Given the description of an element on the screen output the (x, y) to click on. 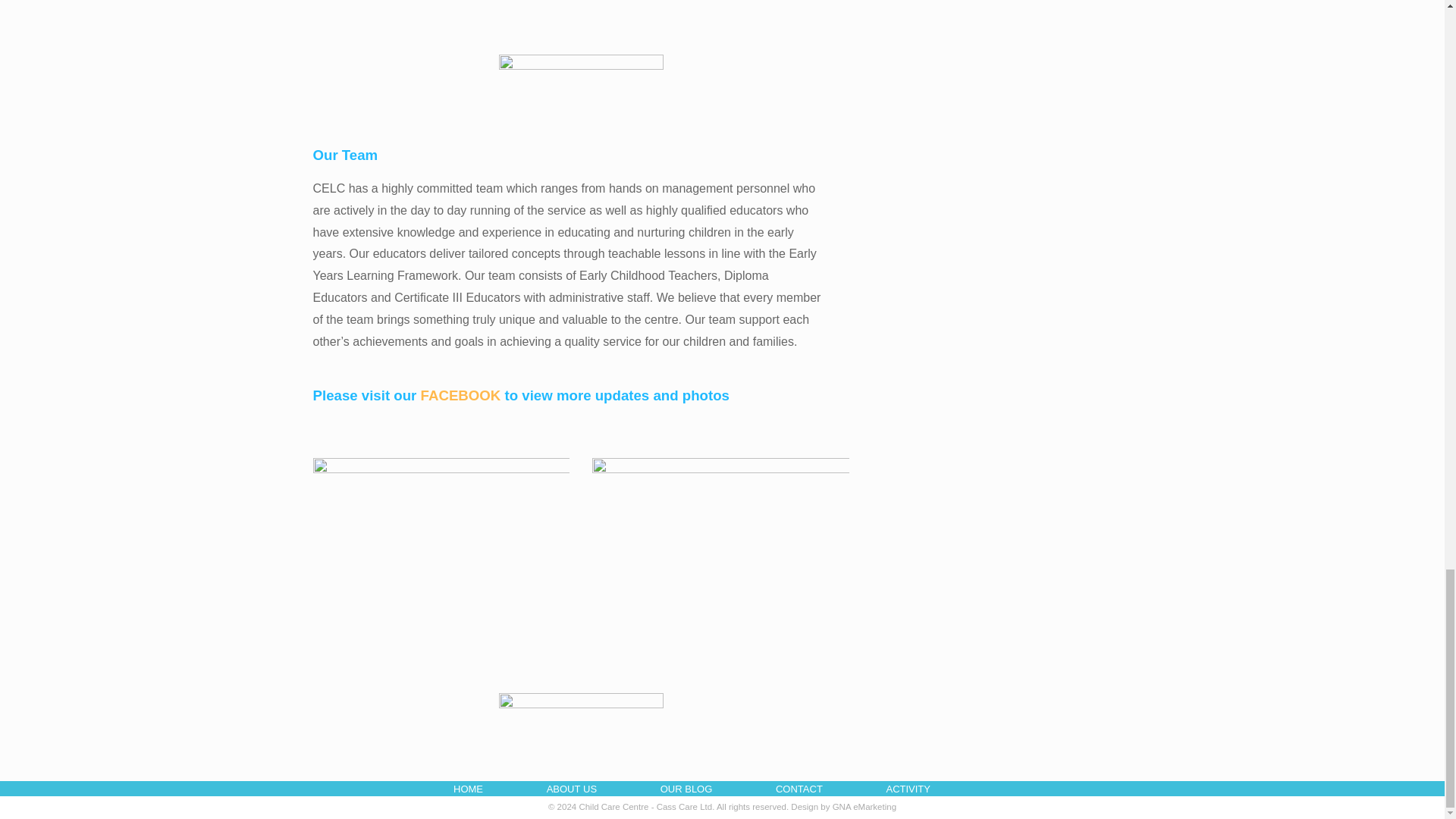
Our Blog (701, 788)
About Us (587, 788)
Please visit our FACEBOOK to view more updates and photos (521, 396)
Home (482, 788)
